Given the description of an element on the screen output the (x, y) to click on. 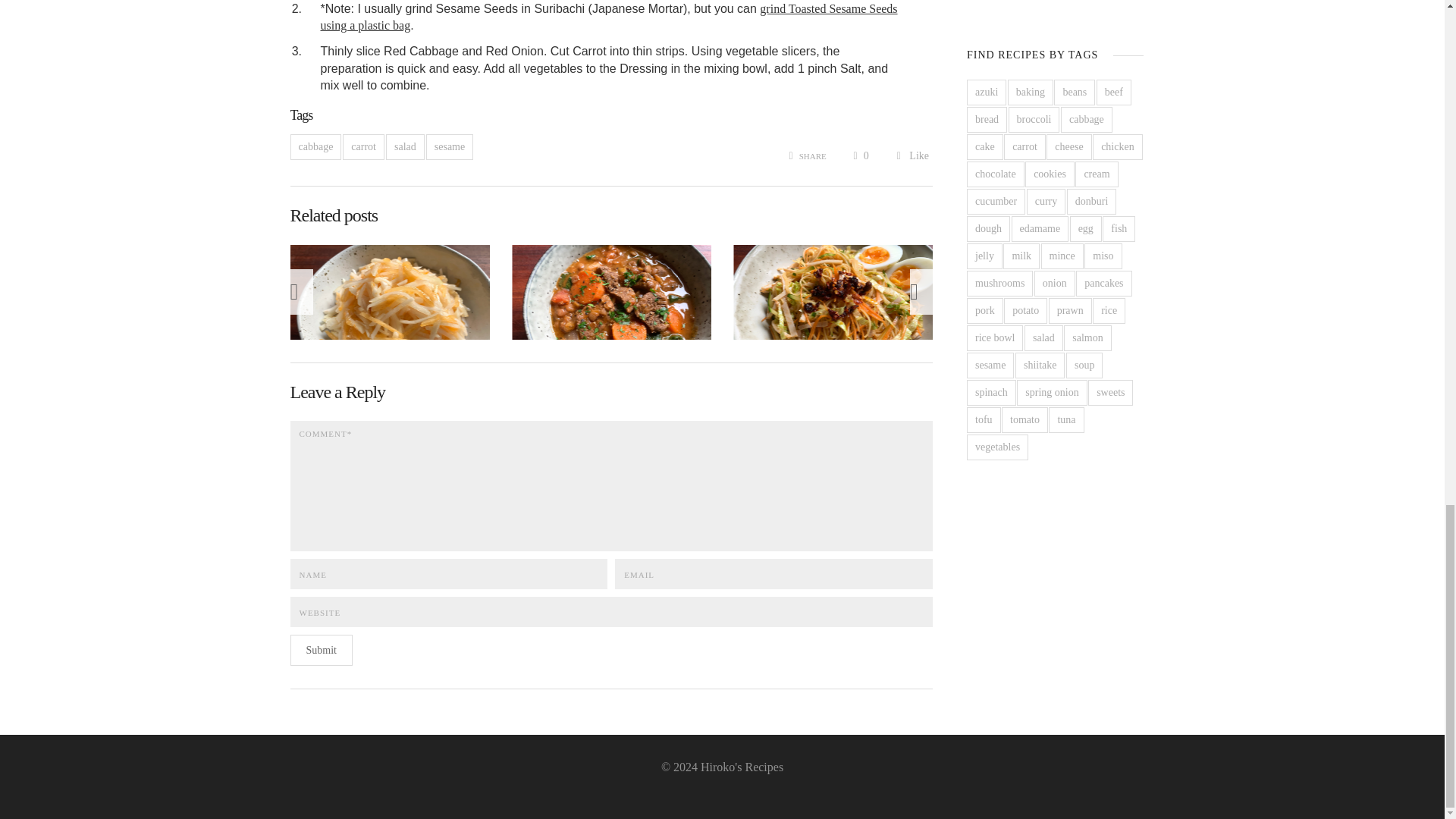
 Like (911, 155)
carrot (363, 146)
sesame (449, 146)
cabbage (314, 146)
grind Toasted Sesame Seeds using a plastic bag (608, 16)
salad (405, 146)
Like (911, 155)
0 (860, 155)
